Given the description of an element on the screen output the (x, y) to click on. 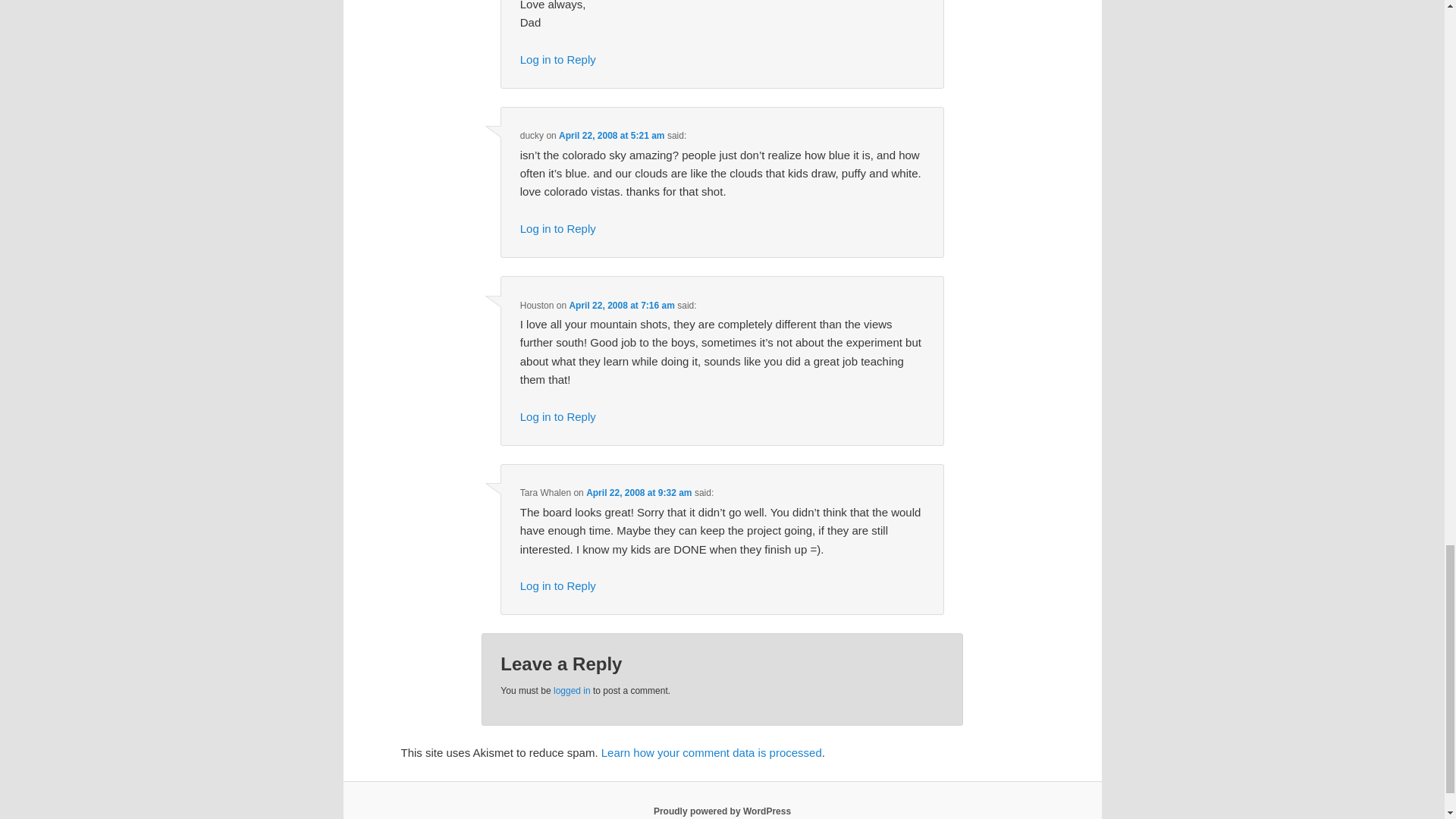
Learn how your comment data is processed (711, 752)
April 22, 2008 at 9:32 am (638, 492)
April 22, 2008 at 5:21 am (611, 135)
April 22, 2008 at 7:16 am (621, 305)
Log in to Reply (557, 416)
Log in to Reply (557, 59)
Semantic Personal Publishing Platform (721, 810)
Log in to Reply (557, 585)
Log in to Reply (557, 228)
Proudly powered by WordPress (721, 810)
logged in (572, 690)
